Given the description of an element on the screen output the (x, y) to click on. 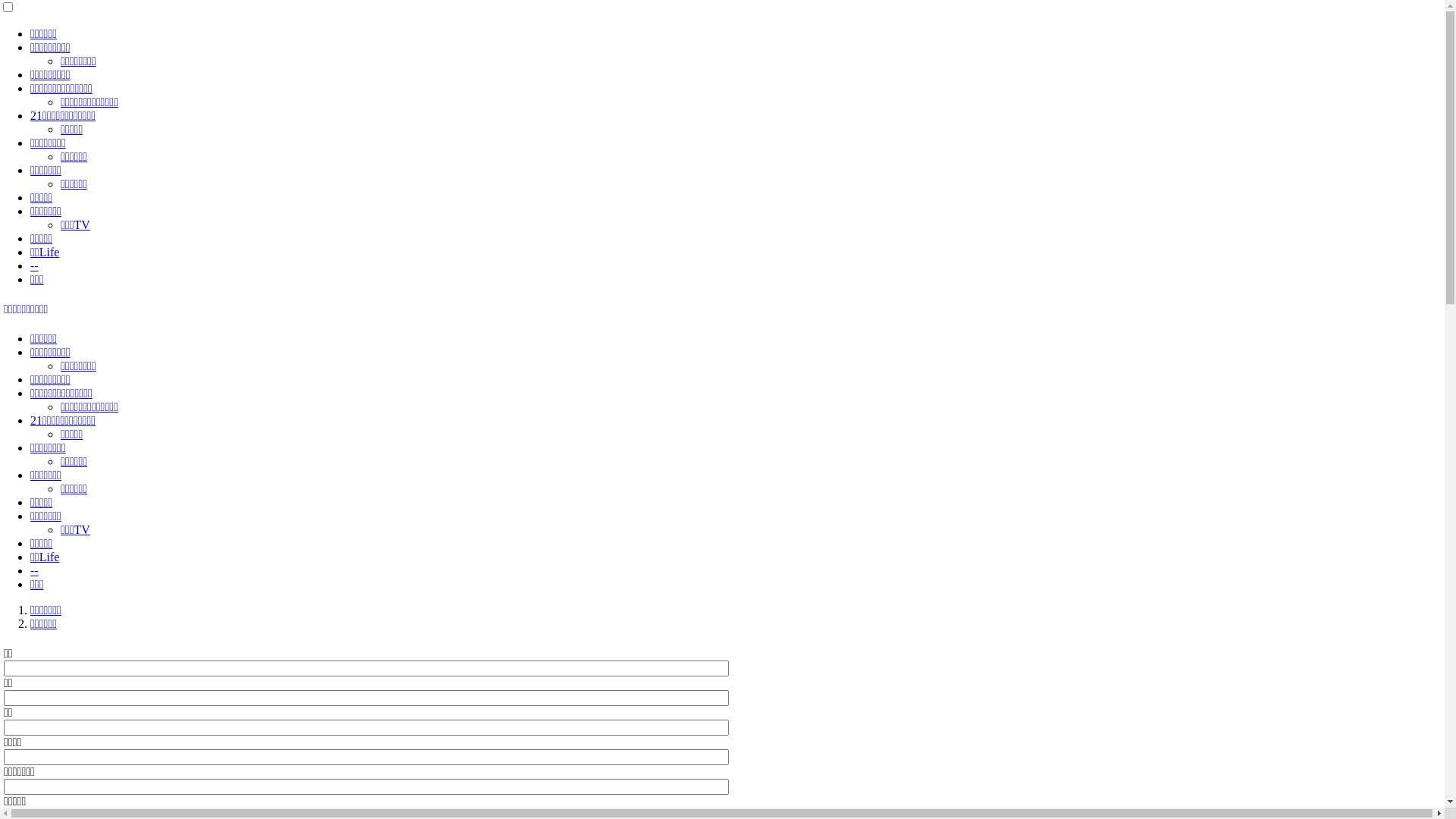
-- Element type: text (34, 570)
-- Element type: text (34, 265)
